Given the description of an element on the screen output the (x, y) to click on. 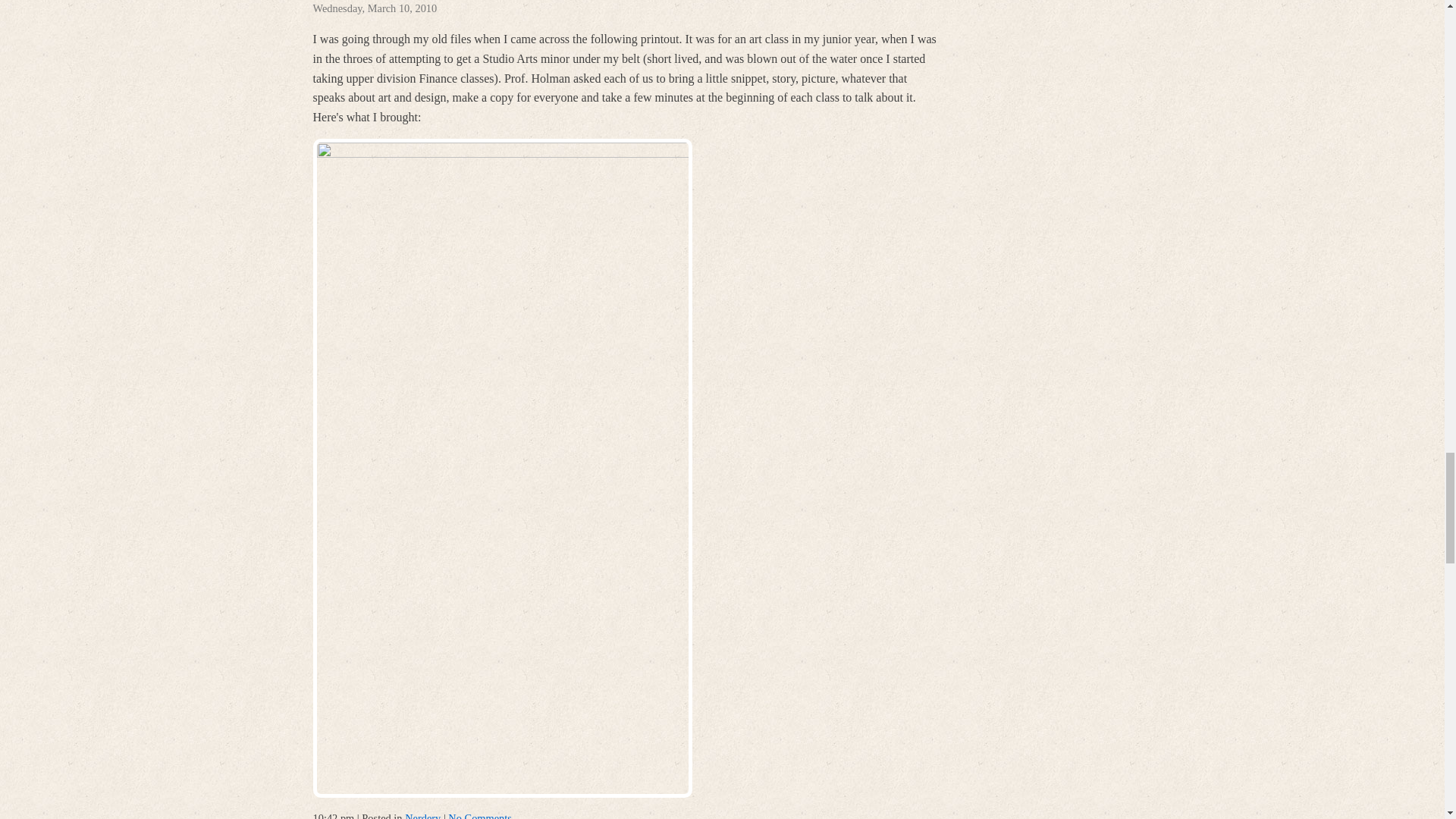
No Banana (360, 1)
